Given the description of an element on the screen output the (x, y) to click on. 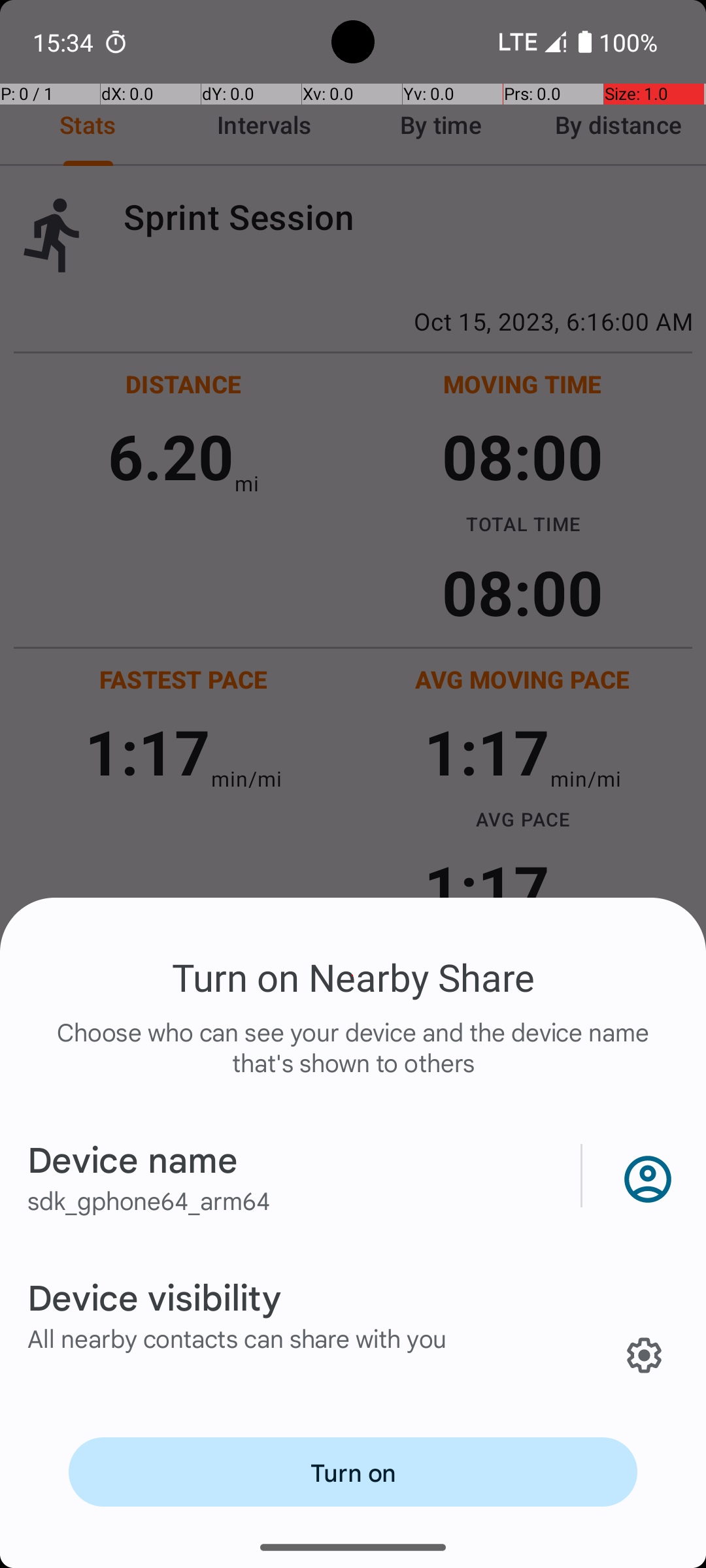
Turn on Nearby Share Element type: android.widget.TextView (353, 976)
Choose who can see your device and the device name that's shown to others Element type: android.widget.TextView (353, 1060)
No account found Element type: android.widget.FrameLayout (644, 1175)
Turn on Element type: android.widget.Button (352, 1471)
All nearby contacts can share with you Element type: android.widget.TextView (237, 1338)
